Given the description of an element on the screen output the (x, y) to click on. 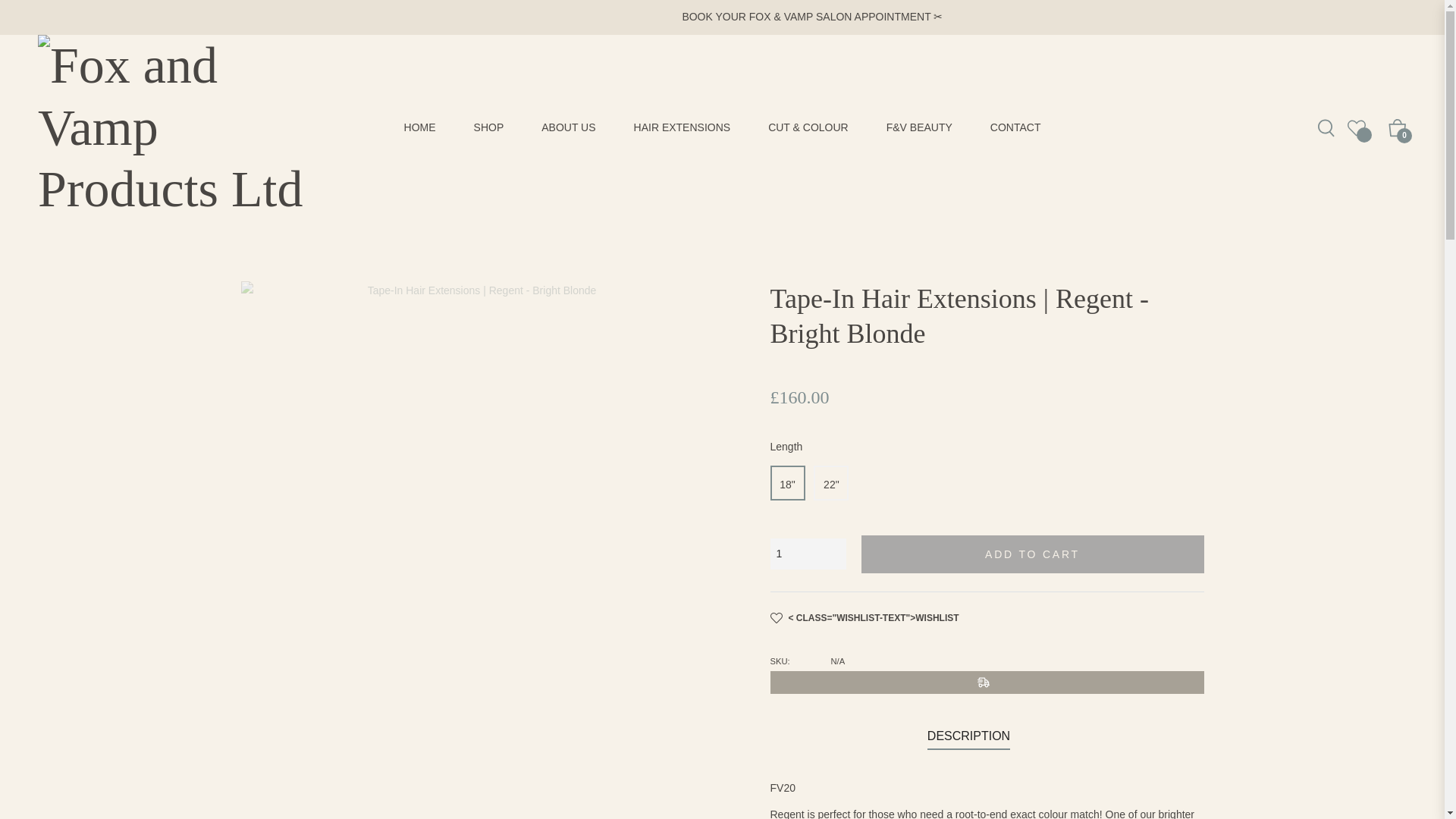
SHOP (488, 127)
HAIR EXTENSIONS (681, 127)
Wishlist (864, 618)
Wishlist (1356, 127)
DESCRIPTION (968, 736)
HOME (419, 127)
ABOUT US (568, 127)
Shopping Cart (1397, 127)
CONTACT (1015, 127)
ADD TO CART (1032, 554)
1 (807, 553)
